Given the description of an element on the screen output the (x, y) to click on. 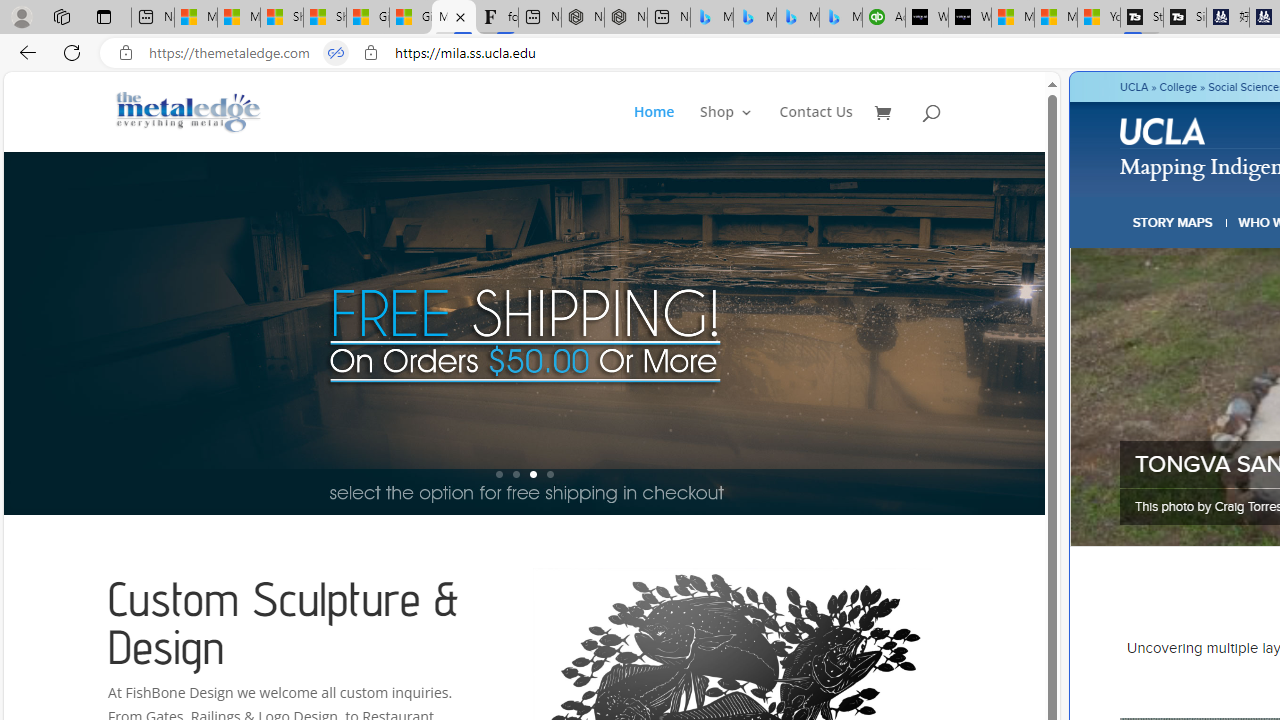
Gilma and Hector both pose tropical trouble for Hawaii (411, 17)
1 (499, 474)
Close tab (459, 16)
Microsoft Bing Travel - Shangri-La Hotel Bangkok (840, 17)
5 (1042, 332)
Refresh (72, 52)
Mapping Indigenous LA (453, 17)
Metal Fish Sculptures & Metal Designs (189, 111)
New tab (668, 17)
Workspaces (61, 16)
Tabs in split screen (335, 53)
